Given the description of an element on the screen output the (x, y) to click on. 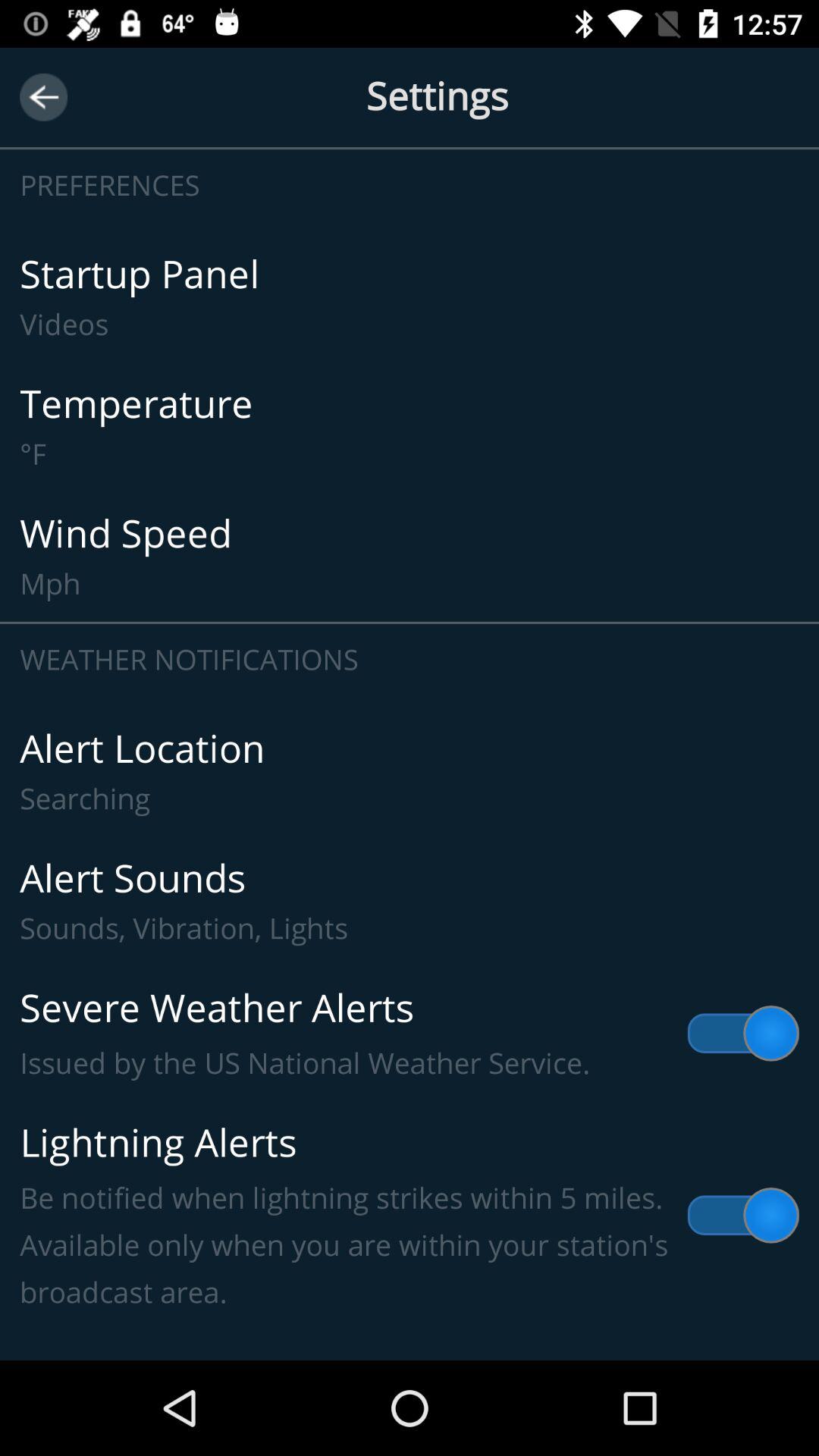
flip until wind speed
mph item (409, 556)
